Given the description of an element on the screen output the (x, y) to click on. 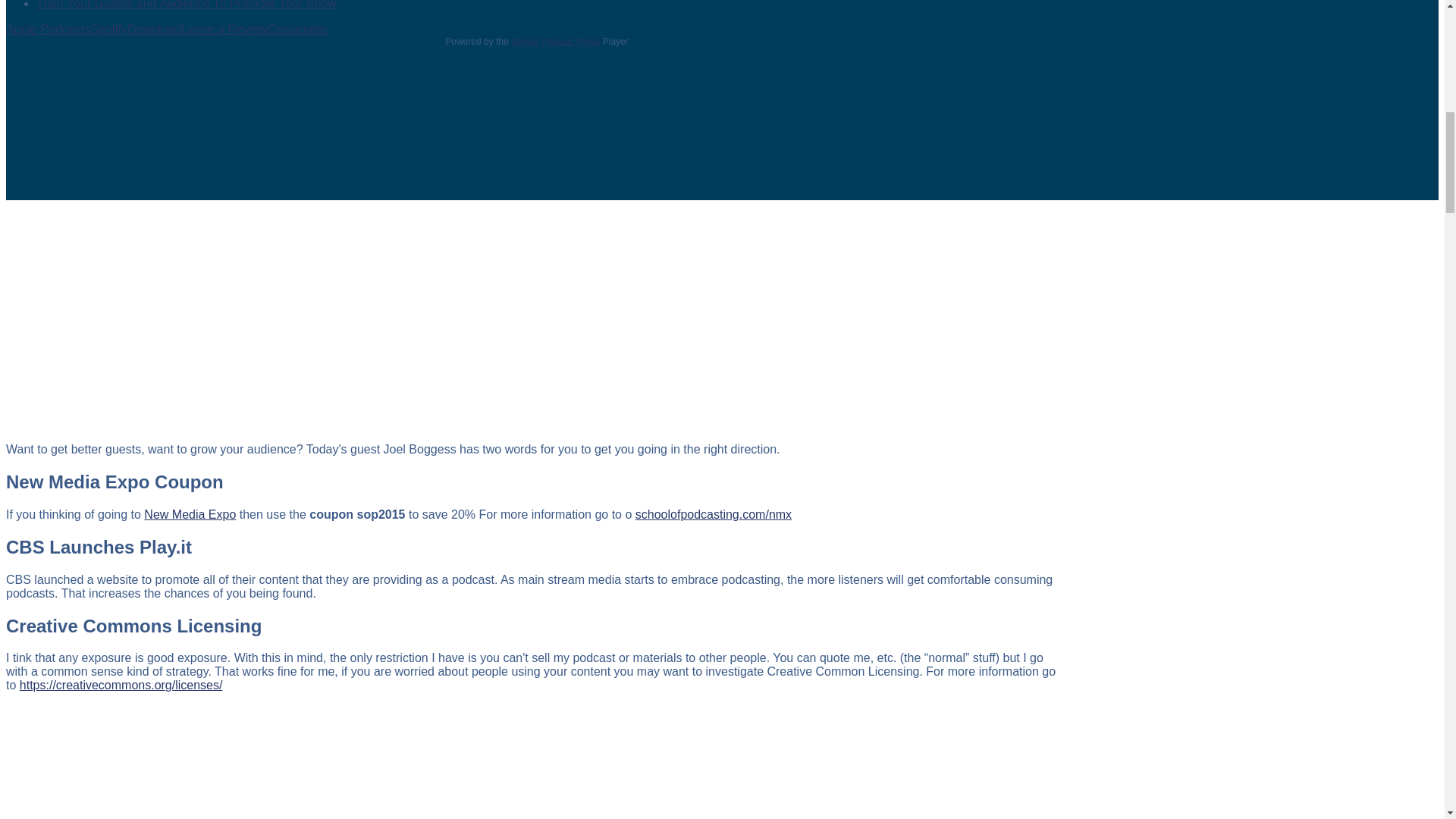
Apple Podcasts (47, 29)
Castamatic (298, 29)
Leave a Review (223, 29)
Spotify (109, 29)
Train Your Guests and Audience To Promote Your Show (186, 4)
New media Expo (189, 513)
New Media Expo (713, 513)
Download (154, 29)
